Given the description of an element on the screen output the (x, y) to click on. 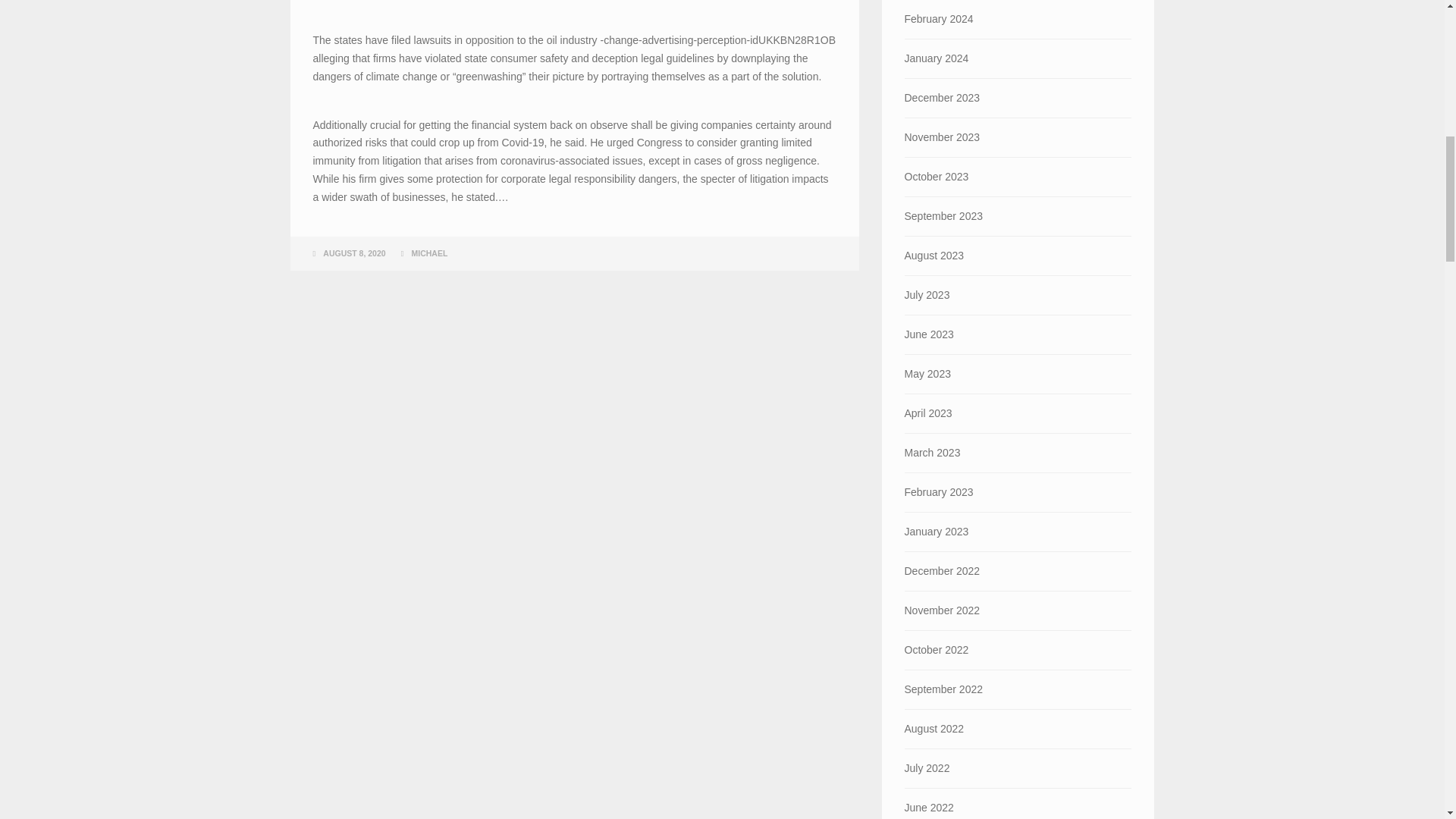
November 2023 (1017, 137)
January 2023 (1017, 531)
June 2023 (1017, 334)
October 2023 (1017, 177)
December 2022 (1017, 571)
February 2024 (1017, 19)
March 2023 (1017, 453)
December 2023 (1017, 97)
November 2022 (1017, 610)
MICHAEL (428, 252)
January 2024 (1017, 58)
July 2023 (1017, 295)
February 2023 (1017, 492)
AUGUST 8, 2020 (354, 252)
August 2023 (1017, 255)
